Given the description of an element on the screen output the (x, y) to click on. 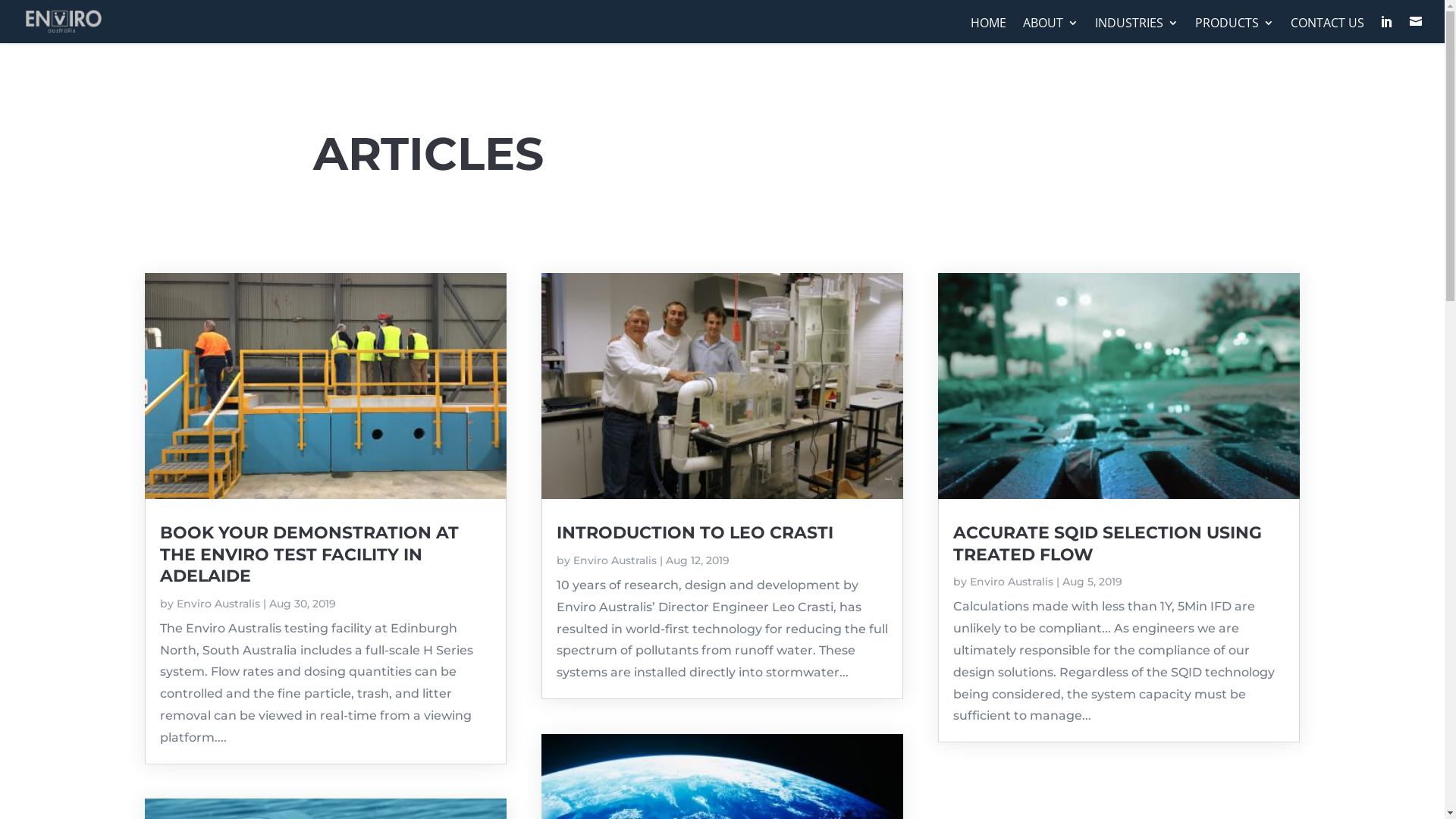
Enviro Australis Element type: text (614, 560)
ACCURATE SQID SELECTION USING TREATED FLOW Element type: text (1107, 543)
Enviro Australis Element type: text (217, 603)
ABOUT Element type: text (1050, 30)
INDUSTRIES Element type: text (1136, 30)
PRODUCTS Element type: text (1234, 30)
HOME Element type: text (988, 30)
CONTACT US Element type: text (1327, 30)
Enviro Australis Element type: text (1011, 581)
INTRODUCTION TO LEO CRASTI Element type: text (694, 532)
